Given the description of an element on the screen output the (x, y) to click on. 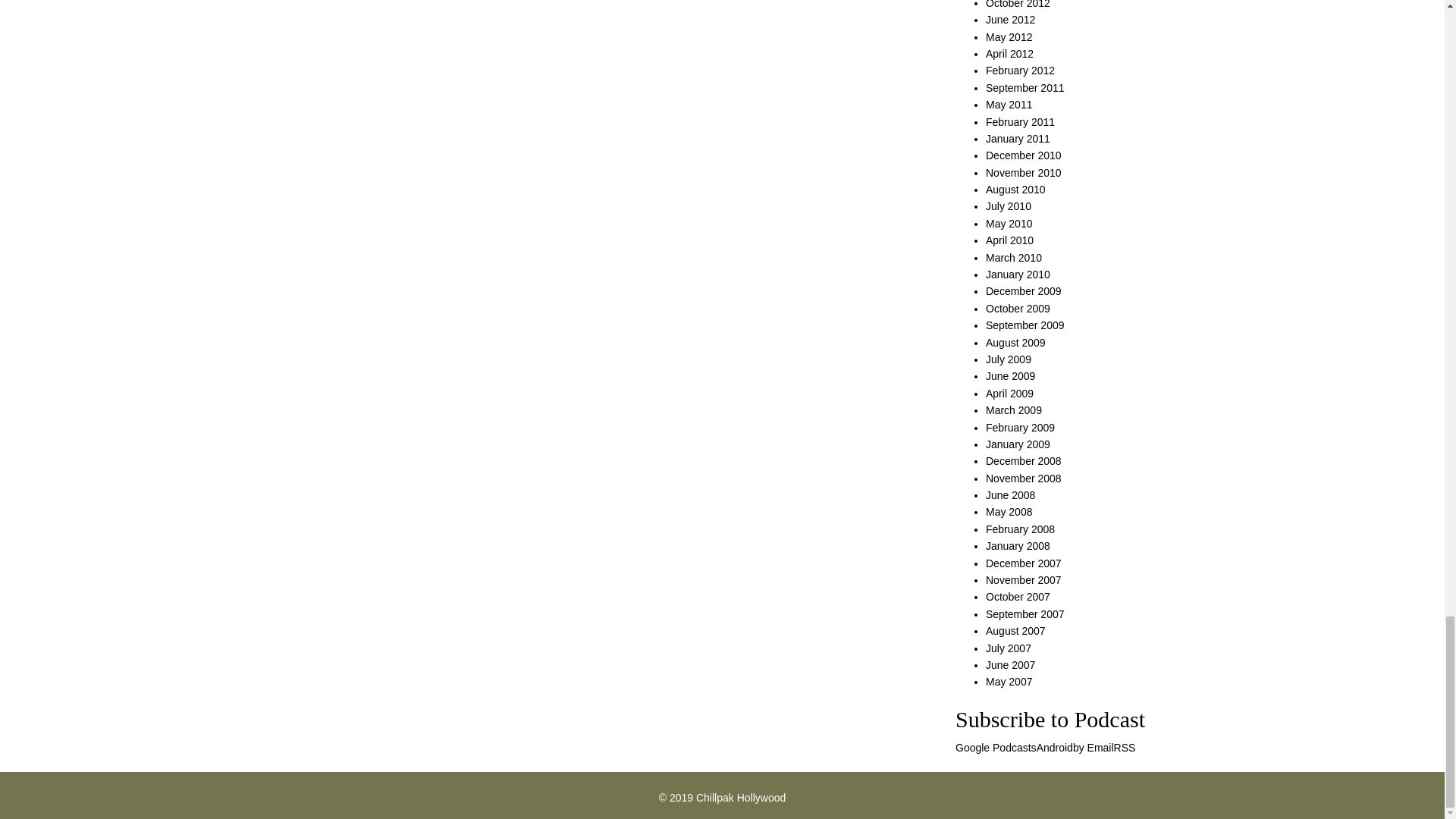
Subscribe via RSS (1124, 747)
Subscribe on Google Podcasts (995, 747)
Subscribe by Email (1093, 747)
Subscribe on Android (1054, 747)
